Given the description of an element on the screen output the (x, y) to click on. 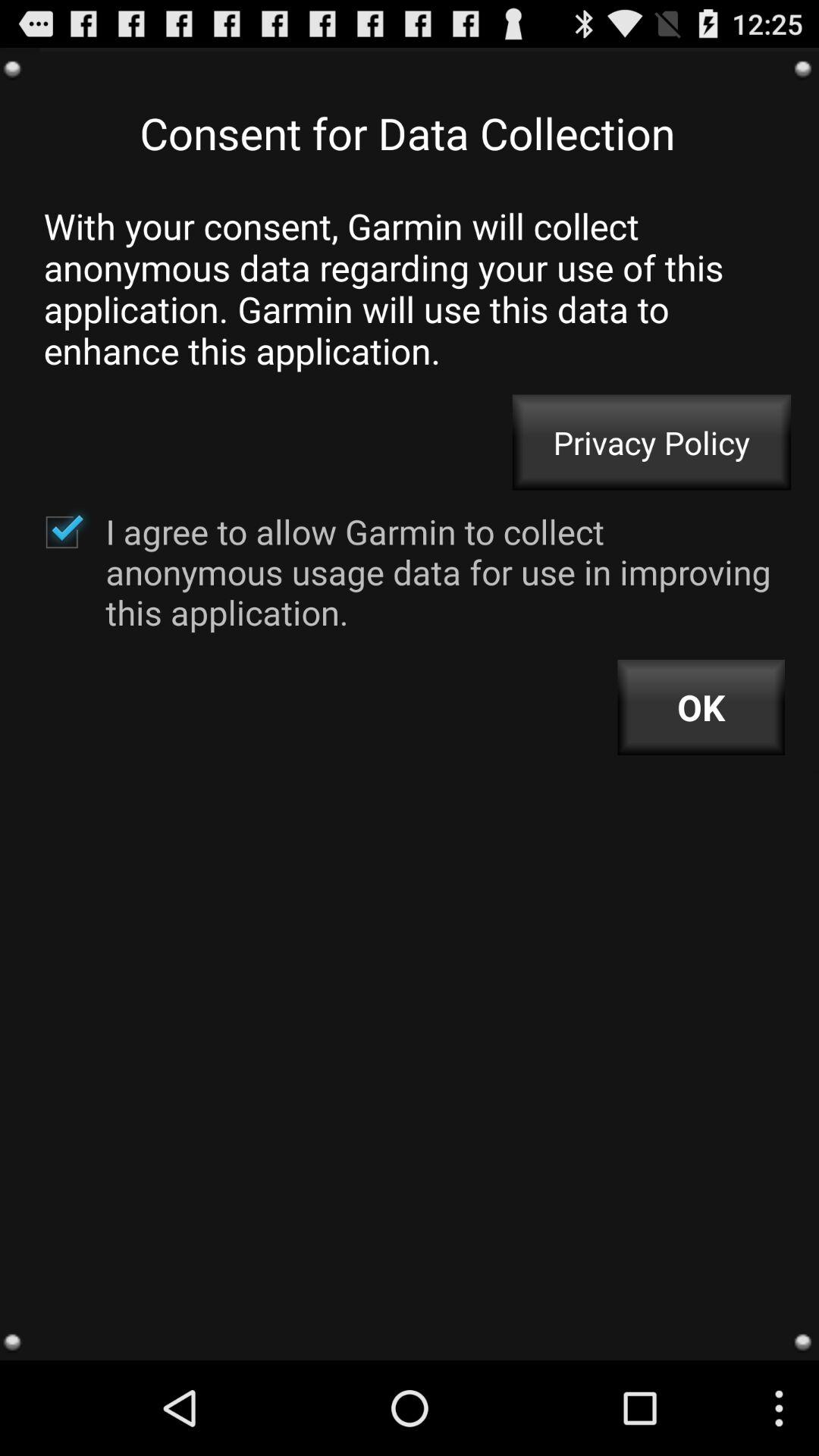
select to agree or unselect for no agree (61, 532)
